Given the description of an element on the screen output the (x, y) to click on. 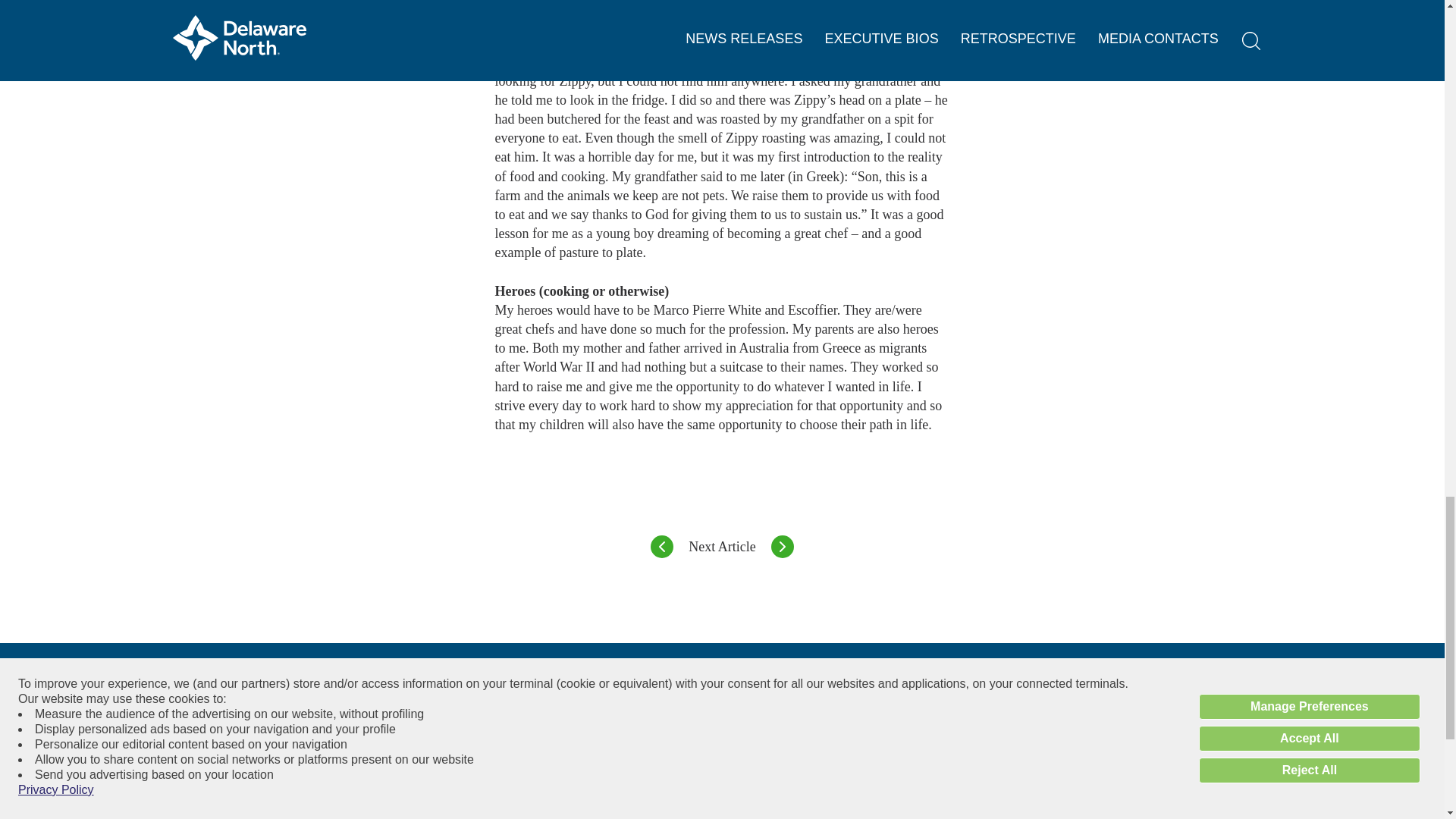
SITEMAP (1075, 786)
CAREERS (712, 811)
ACCESSIBILITY (935, 786)
WHAT WE DO (597, 786)
CCPA (910, 811)
OUR DIFFERENCE (733, 786)
WHO WE ARE (598, 811)
